Given the description of an element on the screen output the (x, y) to click on. 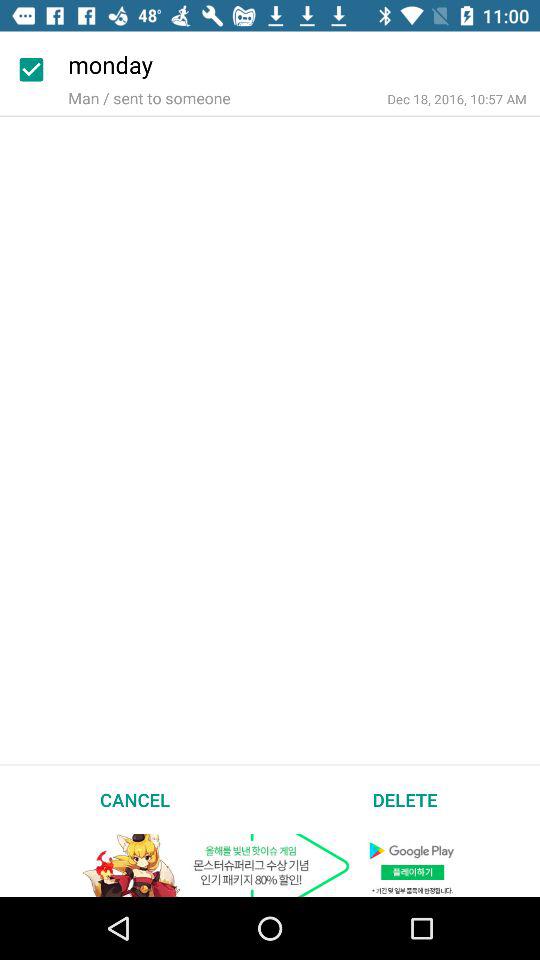
turn on the dec 18 2016 icon (456, 98)
